Given the description of an element on the screen output the (x, y) to click on. 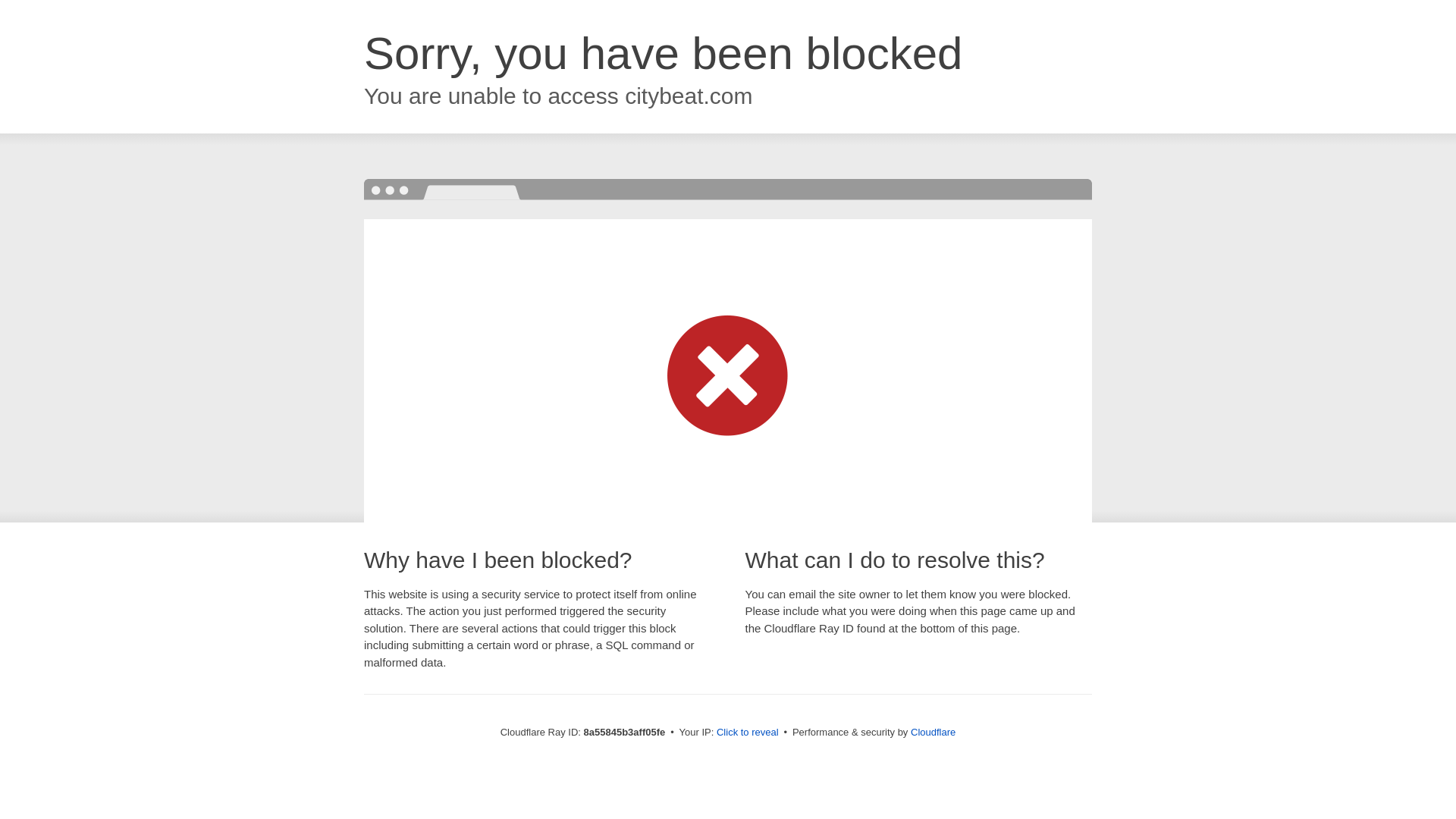
Cloudflare (933, 731)
Click to reveal (747, 732)
